Given the description of an element on the screen output the (x, y) to click on. 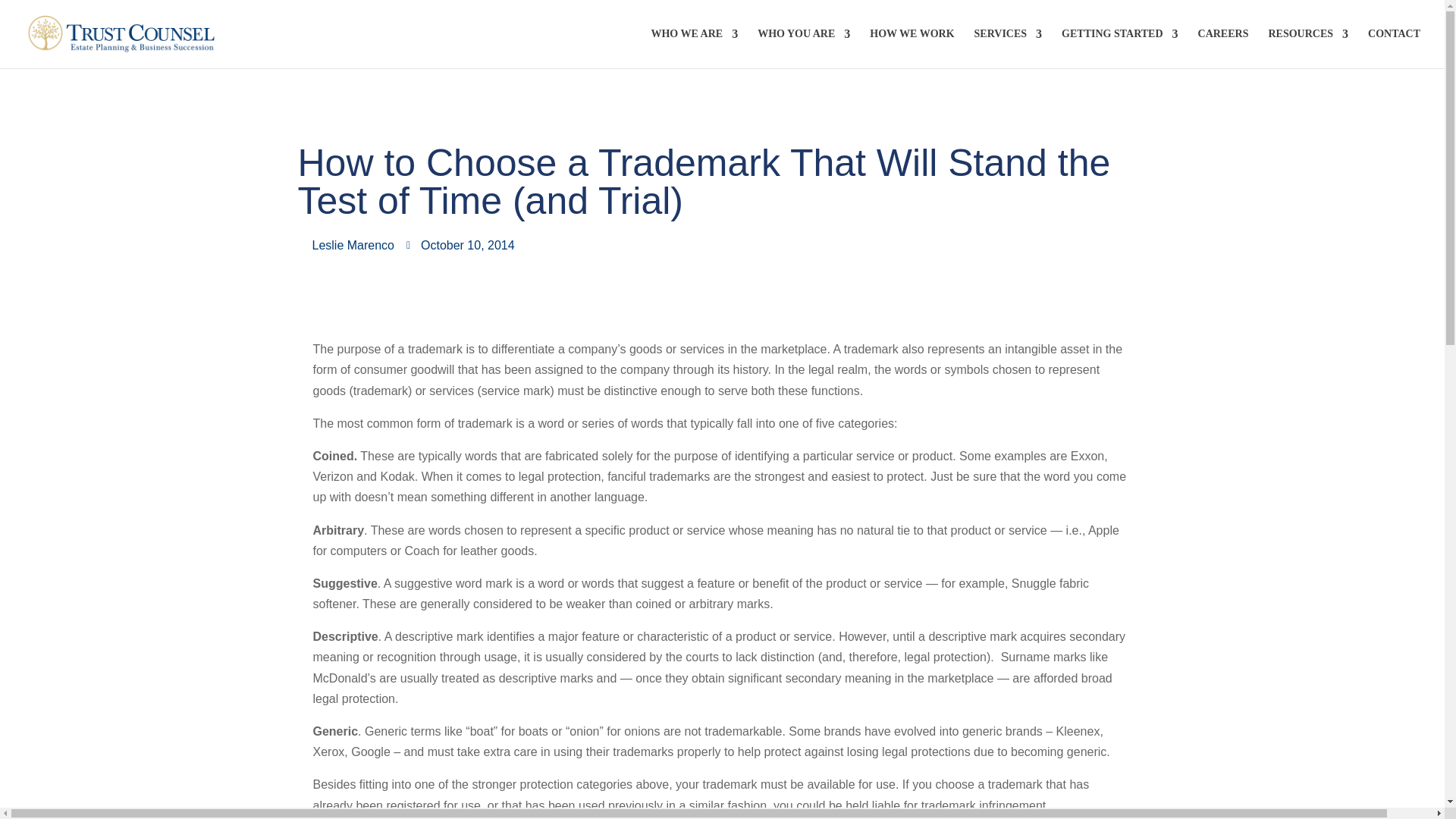
CAREERS (1223, 47)
WHO WE ARE (694, 47)
RESOURCES (1308, 47)
WHO YOU ARE (803, 47)
Leslie Marenco (345, 245)
HOW WE WORK (911, 47)
SERVICES (1008, 47)
CONTACT (1394, 47)
GETTING STARTED (1119, 47)
October 10, 2014 (460, 245)
